Given the description of an element on the screen output the (x, y) to click on. 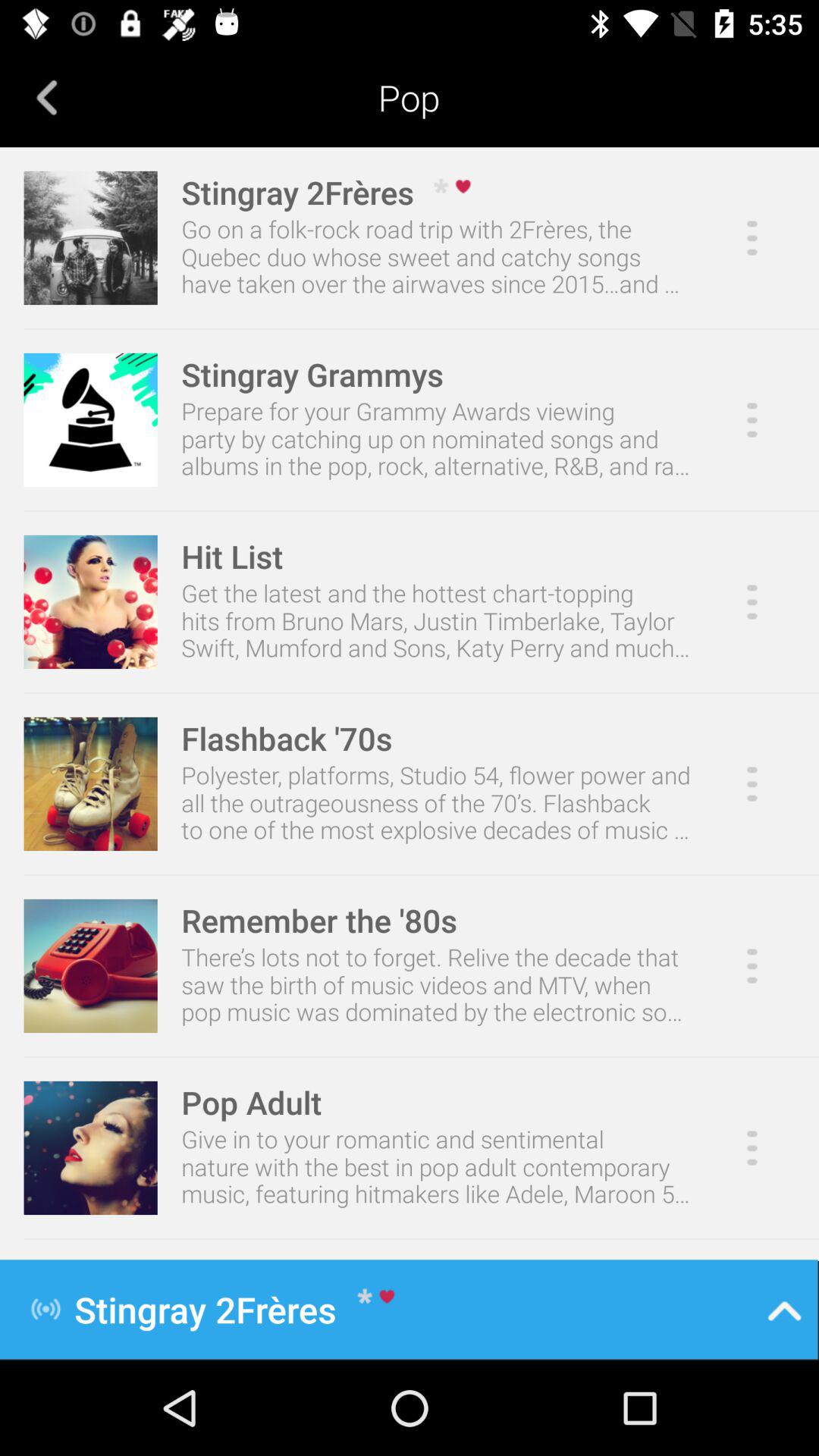
turn off the item to the left of pop icon (47, 97)
